Given the description of an element on the screen output the (x, y) to click on. 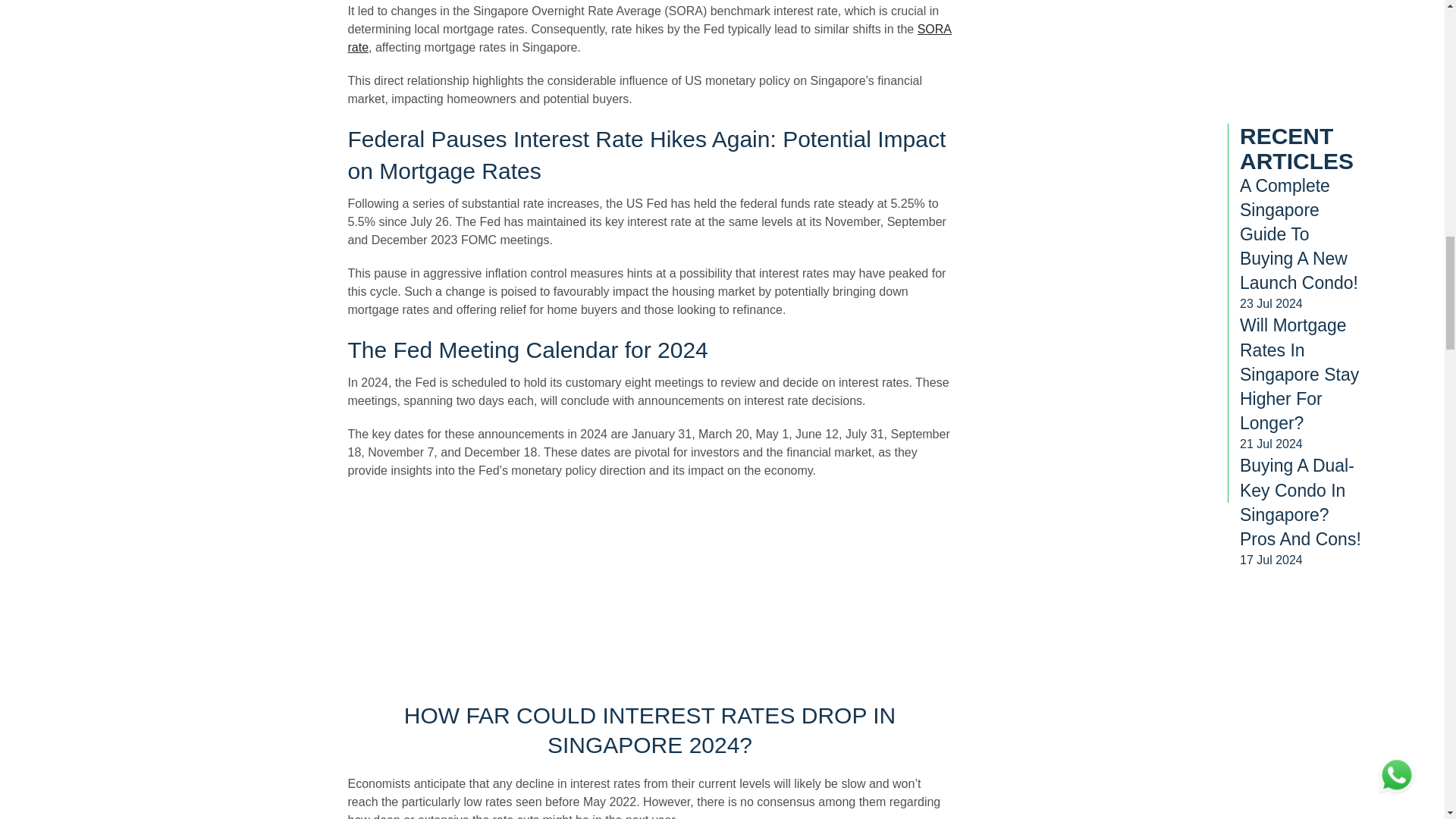
SORA rate (649, 38)
